Given the description of an element on the screen output the (x, y) to click on. 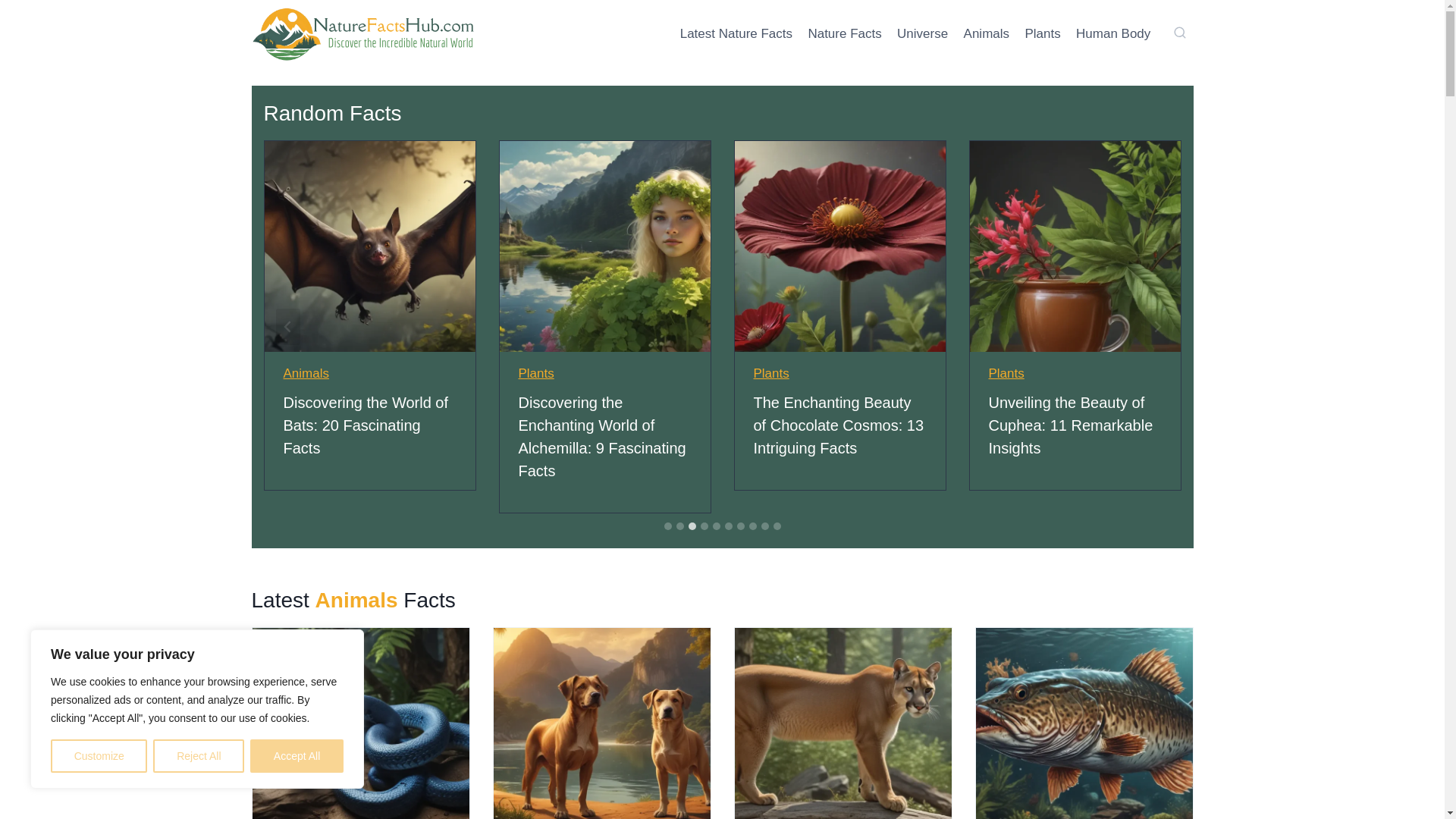
Human Body (1113, 33)
Unveiling the Beauty of Cuphea: 11 Remarkable Insights 5 (1074, 246)
Customize (98, 756)
Accept All (296, 756)
Nature Facts (844, 33)
Animals (985, 33)
Discovering the World of Bats: 20 Fascinating Facts 2 (368, 246)
Latest Nature Facts (735, 33)
Universe (922, 33)
Reject All (198, 756)
